Given the description of an element on the screen output the (x, y) to click on. 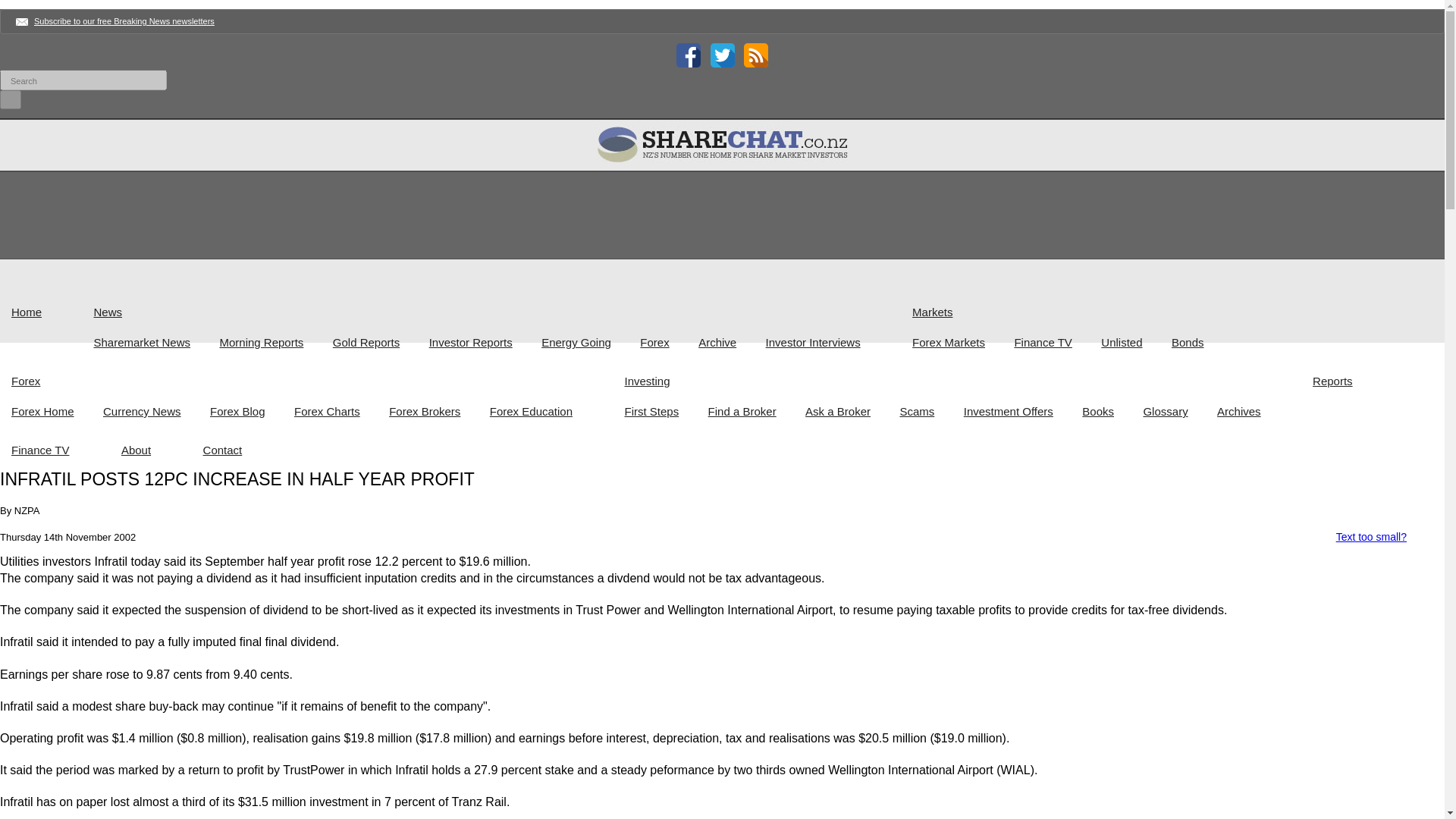
Forex Brokers (437, 410)
About (148, 449)
Investor Interviews (825, 342)
Forex Markets (961, 342)
Sharemarket News (154, 342)
Reports (1345, 380)
Currency News (154, 410)
Archive (729, 342)
First Steps (664, 410)
Gold Reports (379, 342)
Books (1110, 410)
Archives (1252, 410)
Finance TV (52, 449)
Forex Charts (339, 410)
Glossary (1177, 410)
